Given the description of an element on the screen output the (x, y) to click on. 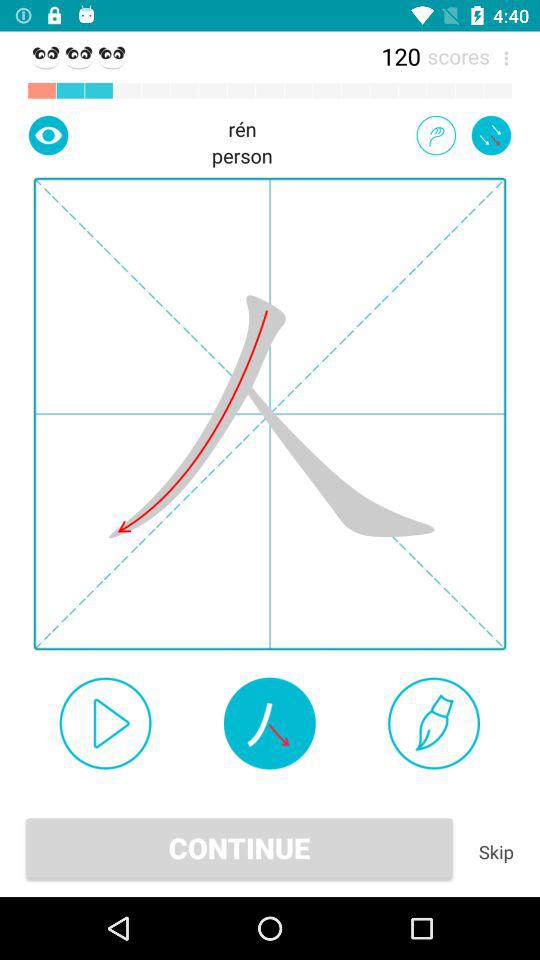
turn off the icon above continue (434, 723)
